Given the description of an element on the screen output the (x, y) to click on. 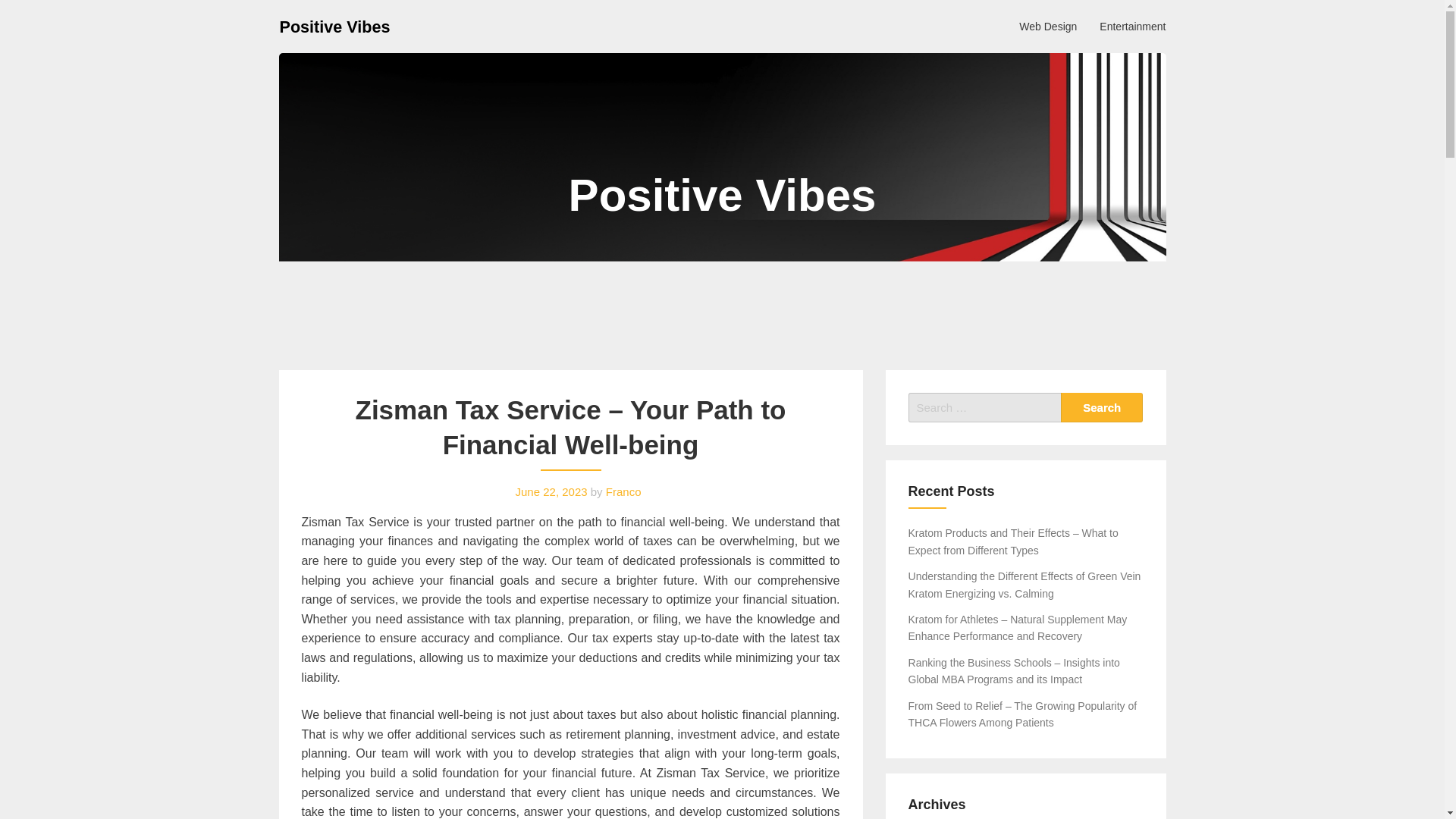
Entertainment (1131, 26)
Search (1101, 407)
Search (1101, 407)
Web Design (1047, 26)
Positive Vibes (334, 26)
June 22, 2023 (551, 491)
Search (1101, 407)
